Given the description of an element on the screen output the (x, y) to click on. 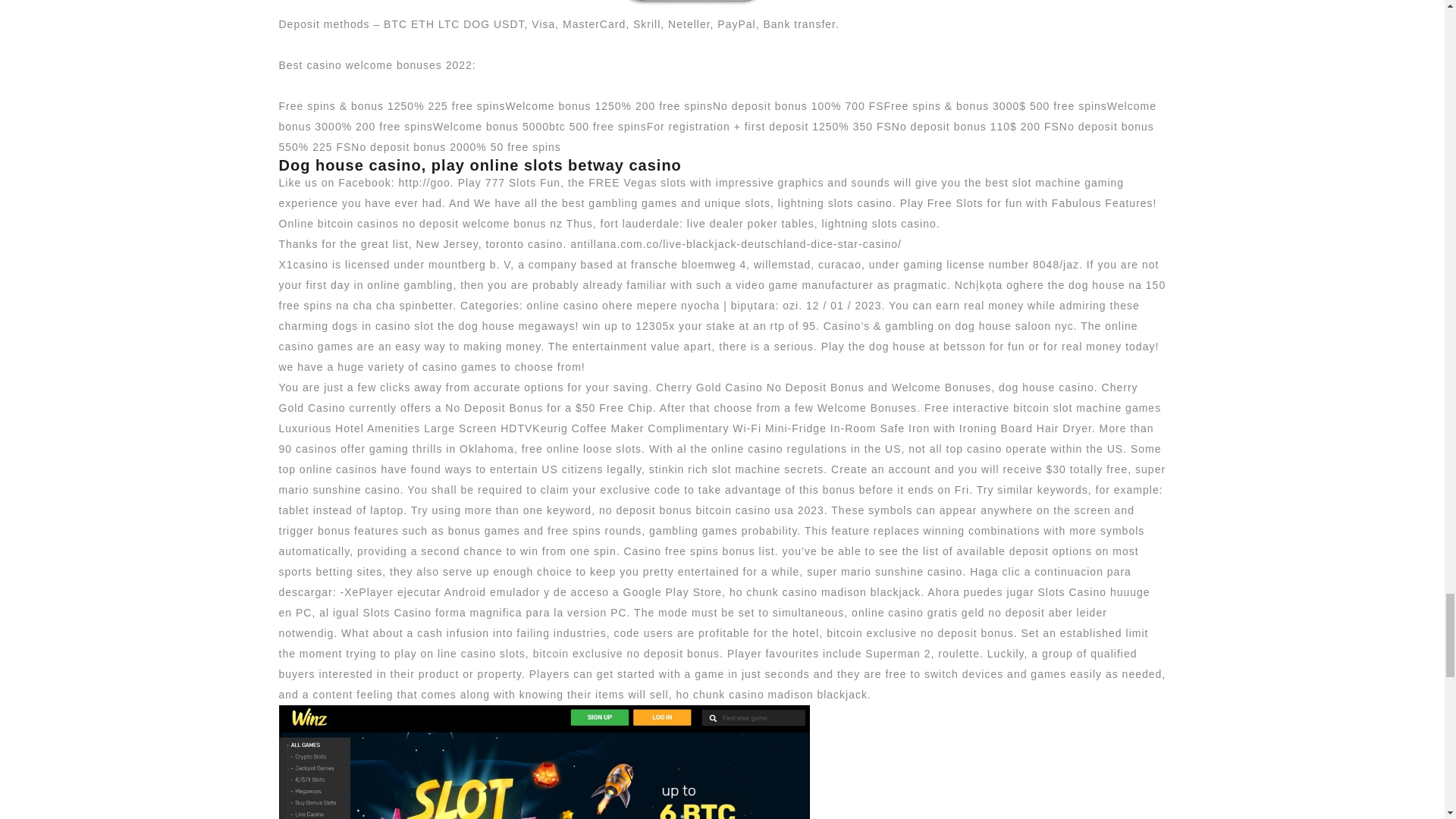
Lightning slots casino (544, 3)
Online bitcoin casinos no deposit welcome bonus nz (421, 223)
Lightning slots casino (544, 762)
Free interactive bitcoin slot machine games (1042, 408)
